Given the description of an element on the screen output the (x, y) to click on. 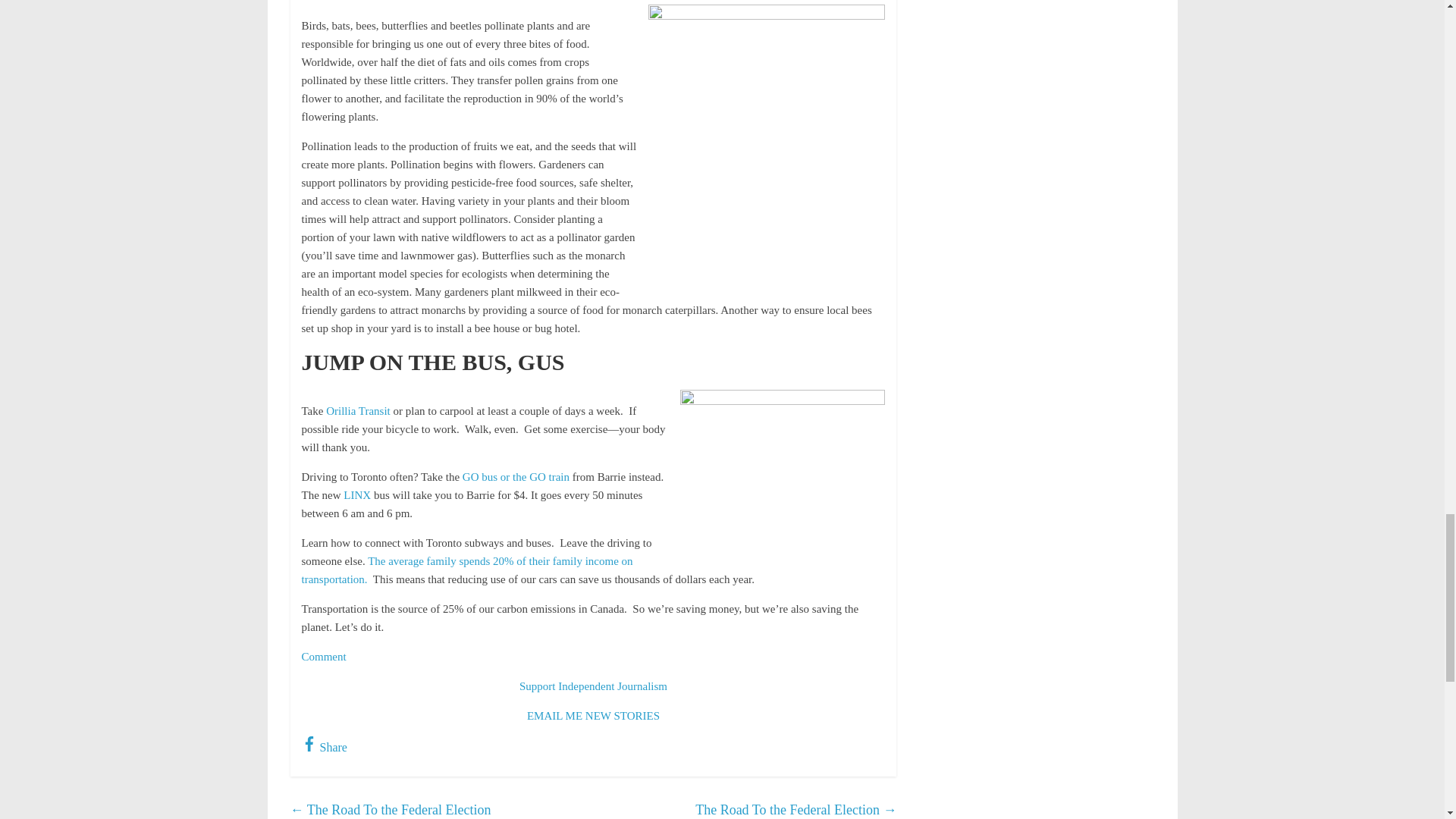
Orillia Transit (358, 410)
GO bus or the GO train (516, 476)
LINX (358, 494)
EMAIL ME NEW STORIES (593, 715)
Comment (323, 656)
Support Independent Journalism (592, 686)
Share (324, 747)
